Given the description of an element on the screen output the (x, y) to click on. 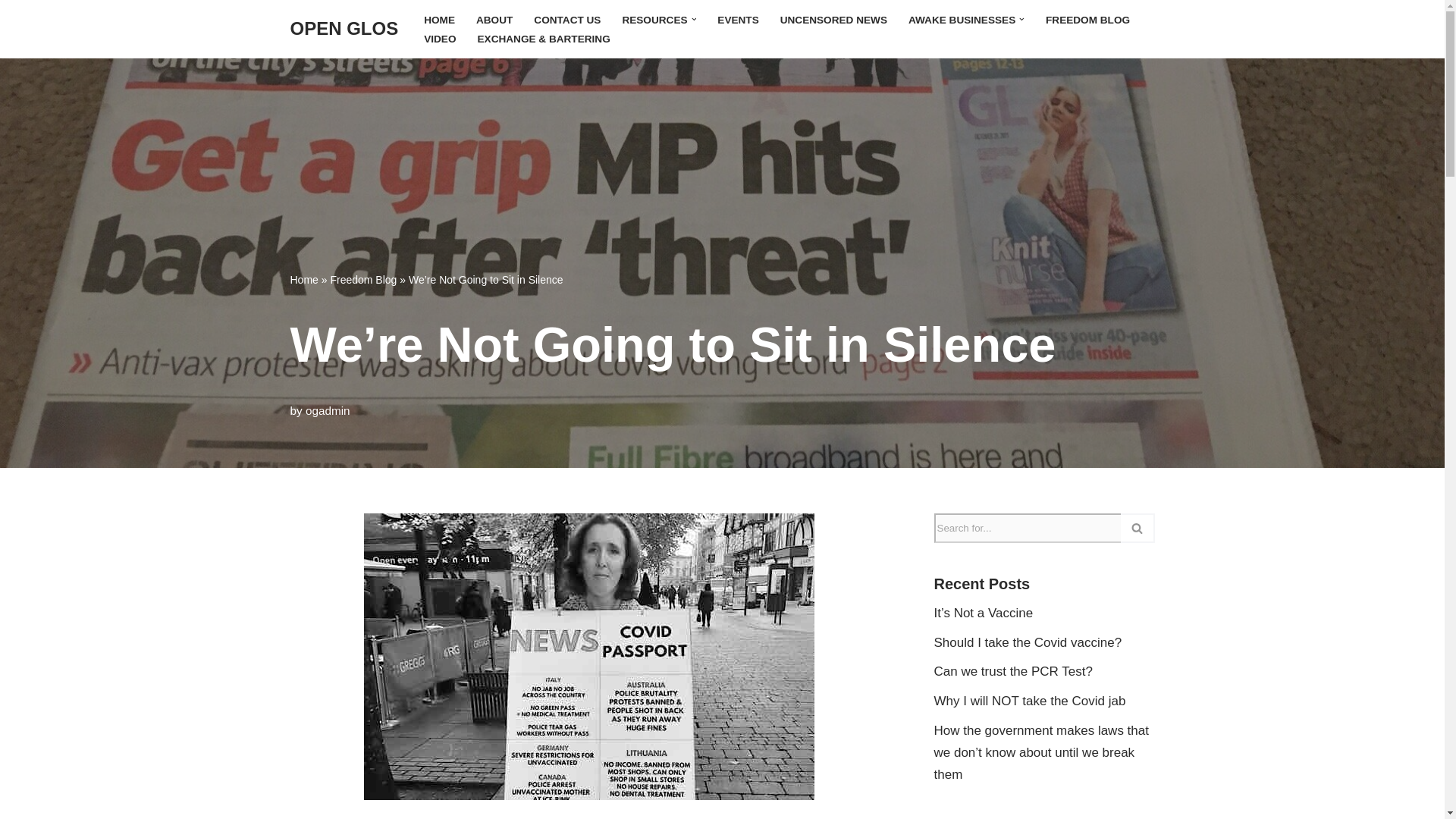
EVENTS (737, 18)
ABOUT (494, 18)
HOME (438, 18)
OPEN GLOS (343, 29)
AWAKE BUSINESSES (961, 18)
Posts by ogadmin (327, 410)
FREEDOM BLOG (1087, 18)
VIDEO (439, 37)
UNCENSORED NEWS (833, 18)
RESOURCES (654, 18)
CONTACT US (566, 18)
Skip to content (11, 31)
